Given the description of an element on the screen output the (x, y) to click on. 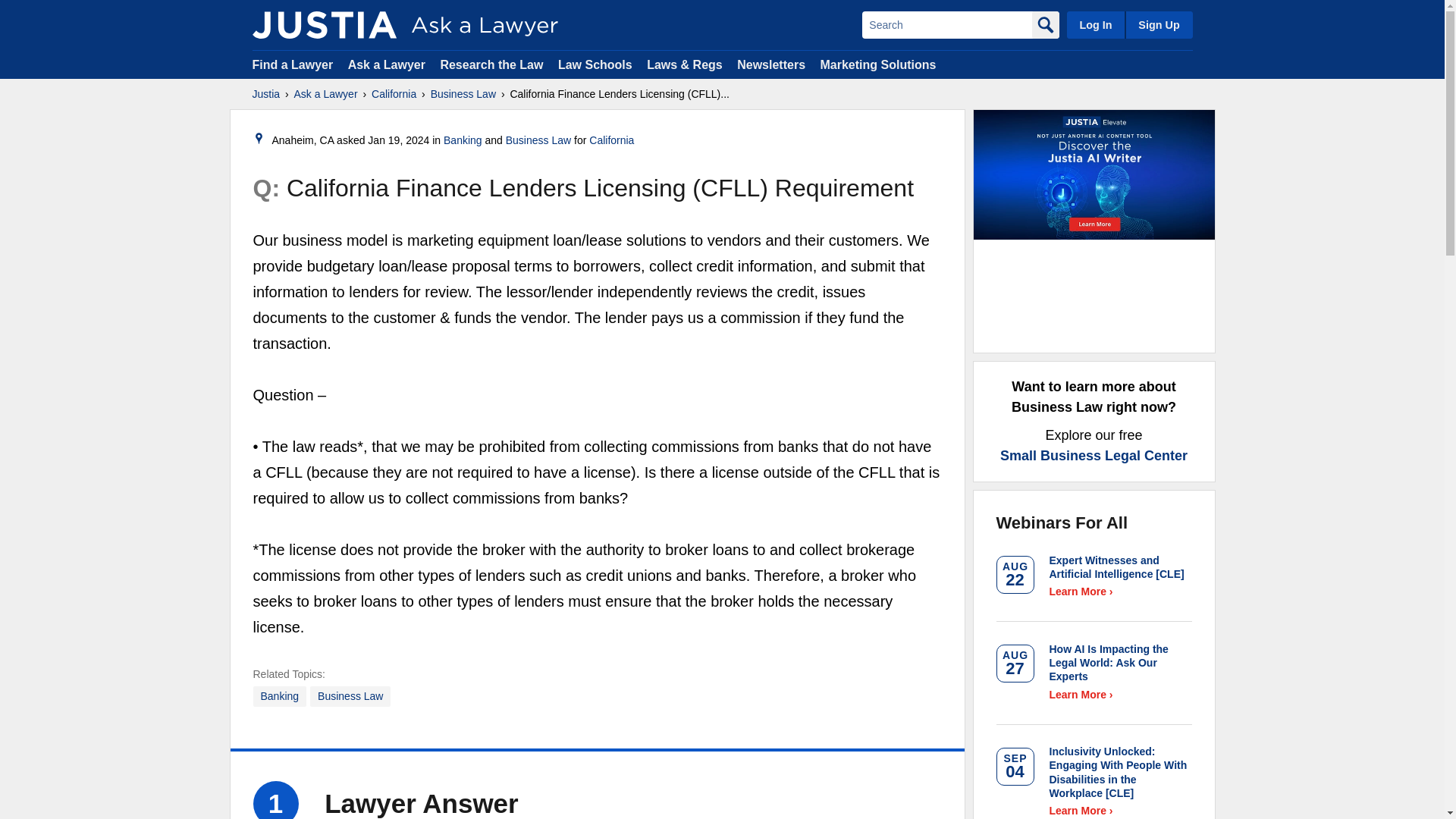
Business Law (350, 696)
Ask a Lawyer (326, 93)
Ask a Lawyer (388, 64)
2024-01-19T14:28:52-08:00 (398, 140)
Newsletters (770, 64)
Justia (265, 93)
California (611, 140)
Law Schools (594, 64)
Sign Up (1158, 24)
Justia (323, 24)
